Given the description of an element on the screen output the (x, y) to click on. 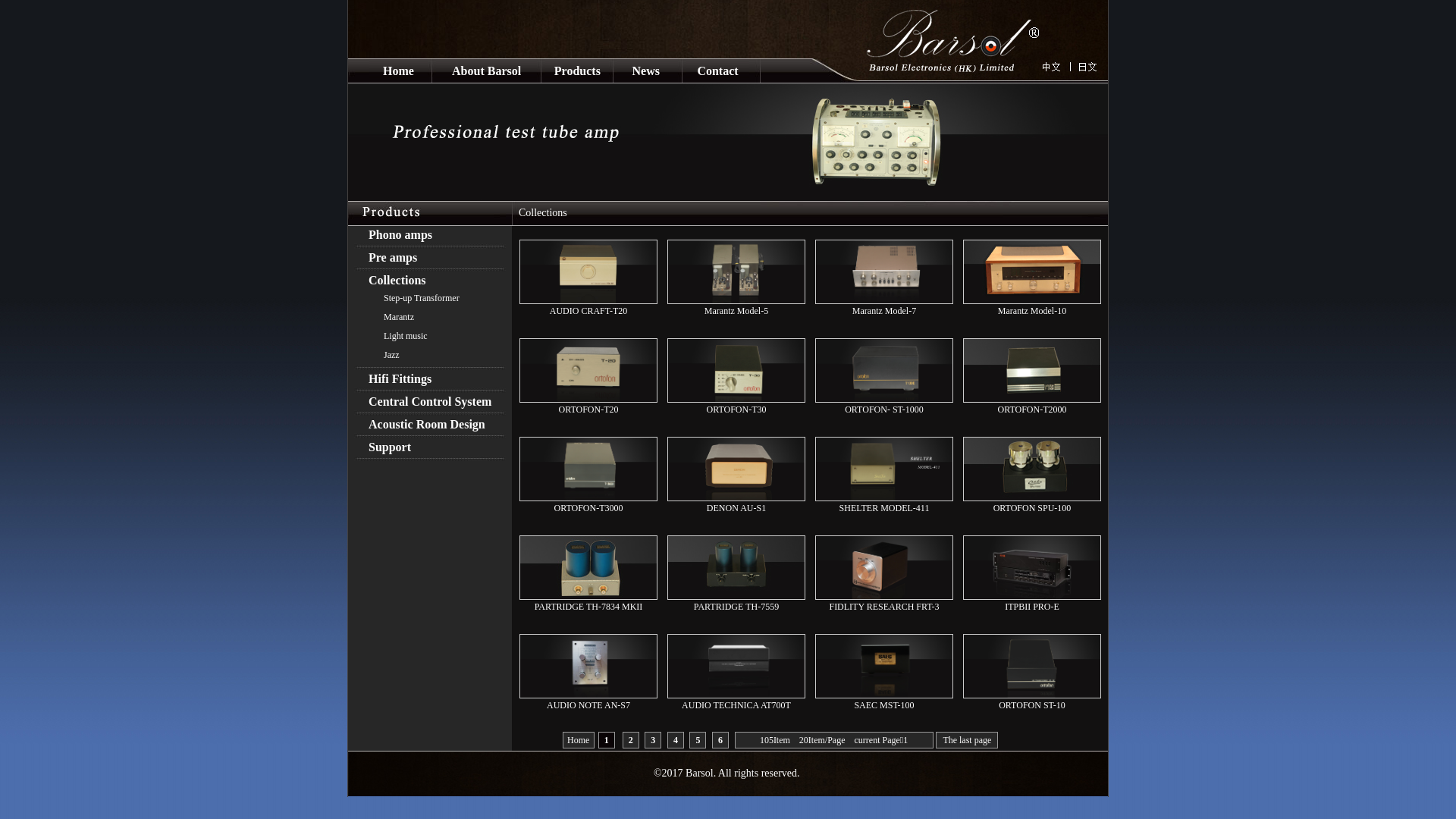
4 Element type: text (675, 739)
DENON AU-S1 Element type: text (735, 507)
SAEC MST-100 Element type: text (883, 704)
SHELTER MODEL-411 Element type: text (884, 507)
Collections Element type: text (429, 279)
News Element type: text (645, 70)
AUDIO NOTE AN-S7 Element type: text (588, 704)
ORTOFON-T3000 Element type: text (587, 507)
Home Element type: text (578, 739)
Pre amps Element type: text (429, 257)
Contact Element type: text (717, 70)
About Barsol Element type: text (486, 70)
Marantz Model-10 Element type: text (1031, 310)
ITPBII PRO-E Element type: text (1031, 606)
Phono amps Element type: text (429, 234)
ORTOFON ST-10 Element type: text (1031, 704)
Acoustic Room Design Element type: text (429, 424)
Hifi Fittings Element type: text (429, 378)
Jazz Element type: text (429, 354)
Home Element type: text (398, 69)
Marantz Model-7 Element type: text (884, 310)
Step-up Transformer Element type: text (429, 297)
PARTRIDGE TH-7834 MKII Element type: text (588, 606)
ORTOFON-T20 Element type: text (588, 409)
Contact Element type: text (716, 69)
Products Element type: text (576, 70)
ORTOFON-T30 Element type: text (735, 409)
About Barsol Element type: text (485, 69)
Collections Element type: text (542, 211)
Home Element type: text (398, 70)
The last page Element type: text (966, 739)
FIDLITY RESEARCH FRT-3 Element type: text (883, 606)
AUDIO TECHNICA AT700T Element type: text (735, 704)
2 Element type: text (630, 739)
3 Element type: text (652, 739)
ORTOFON-T2000 Element type: text (1031, 409)
AUDIO CRAFT-T20 Element type: text (588, 310)
Central Control System Element type: text (429, 401)
ORTOFON- ST-1000 Element type: text (883, 409)
Support Element type: text (429, 446)
6 Element type: text (720, 739)
Light music Element type: text (429, 335)
Products Element type: text (577, 70)
ORTOFON SPU-100 Element type: text (1032, 507)
Marantz Model-5 Element type: text (736, 310)
News Element type: text (644, 69)
PARTRIDGE TH-7559 Element type: text (735, 606)
Marantz Element type: text (429, 316)
5 Element type: text (697, 739)
